Given the description of an element on the screen output the (x, y) to click on. 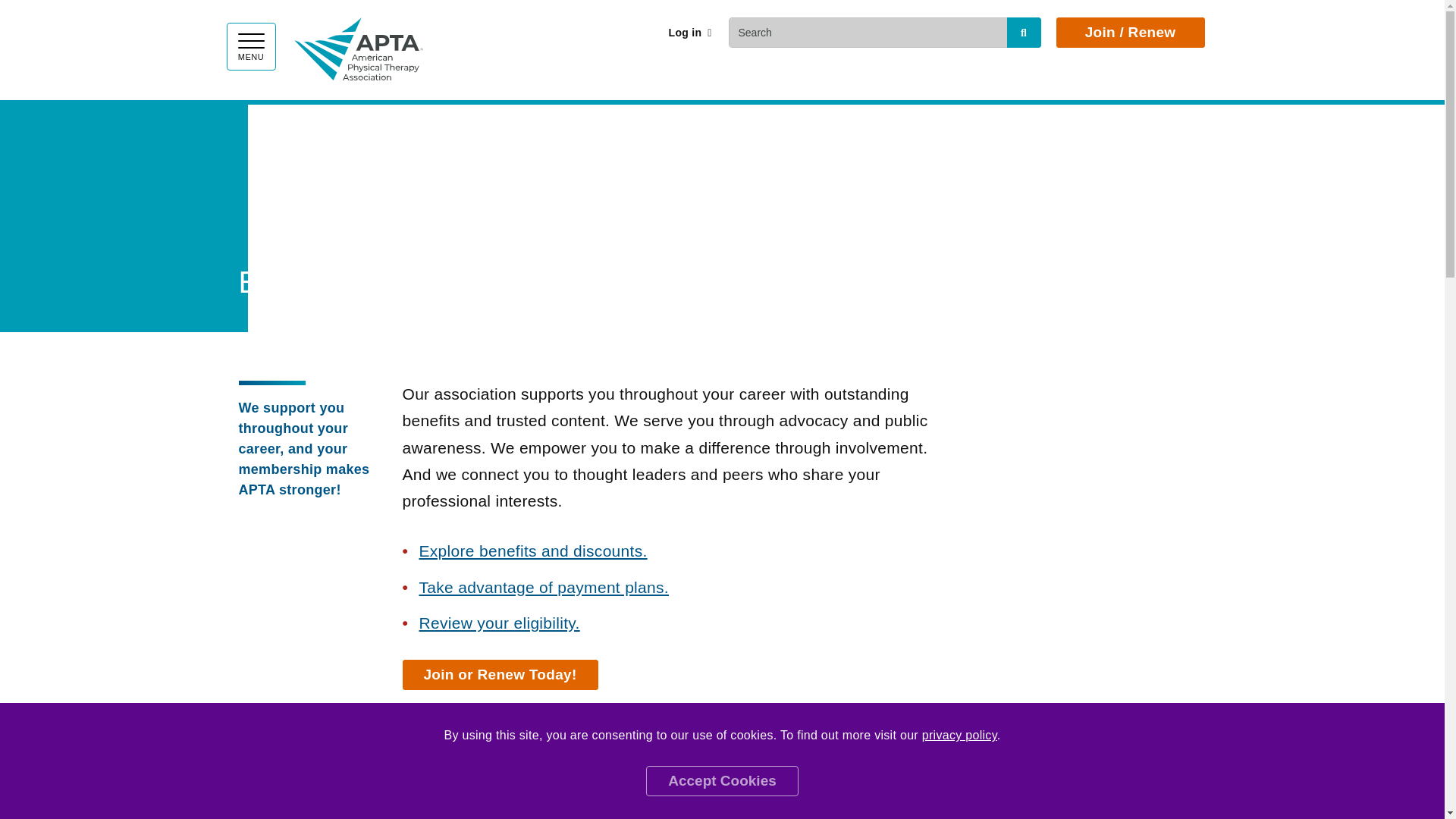
Join or Renew Today! (498, 675)
APTA (358, 46)
privacy policy (959, 735)
MENU (250, 46)
Membership Eligibility and Application Forms (499, 622)
Membership Benefits and Discounts (532, 550)
Membership Dues and Payment Plans (543, 587)
